Given the description of an element on the screen output the (x, y) to click on. 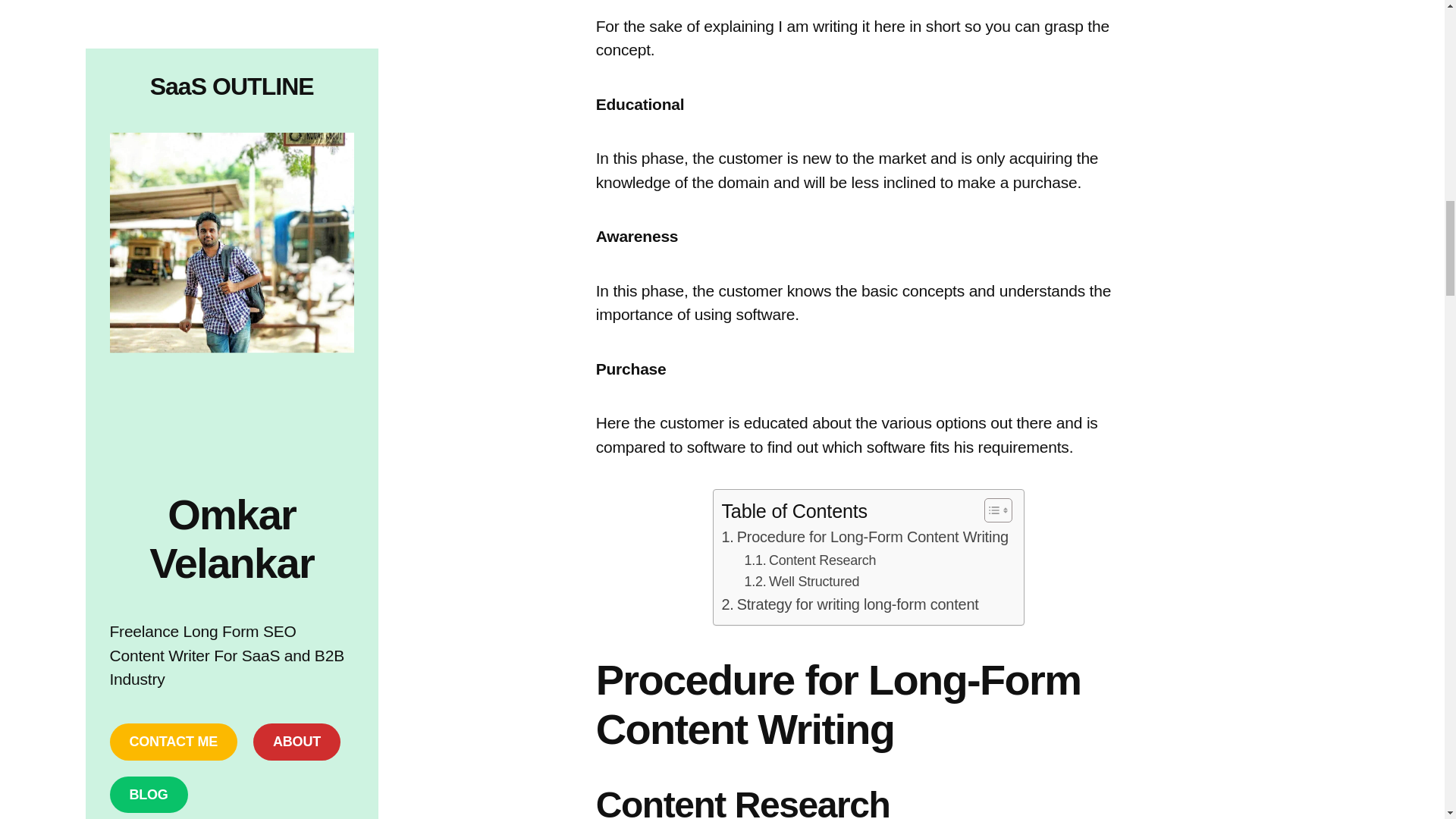
Well Structured (801, 581)
Procedure for Long-Form Content Writing (863, 537)
Strategy for writing long-form content (849, 604)
Content Research (810, 560)
Procedure for Long-Form Content Writing (863, 537)
Well Structured (801, 581)
Content Research (810, 560)
Strategy for writing long-form content (849, 604)
